Given the description of an element on the screen output the (x, y) to click on. 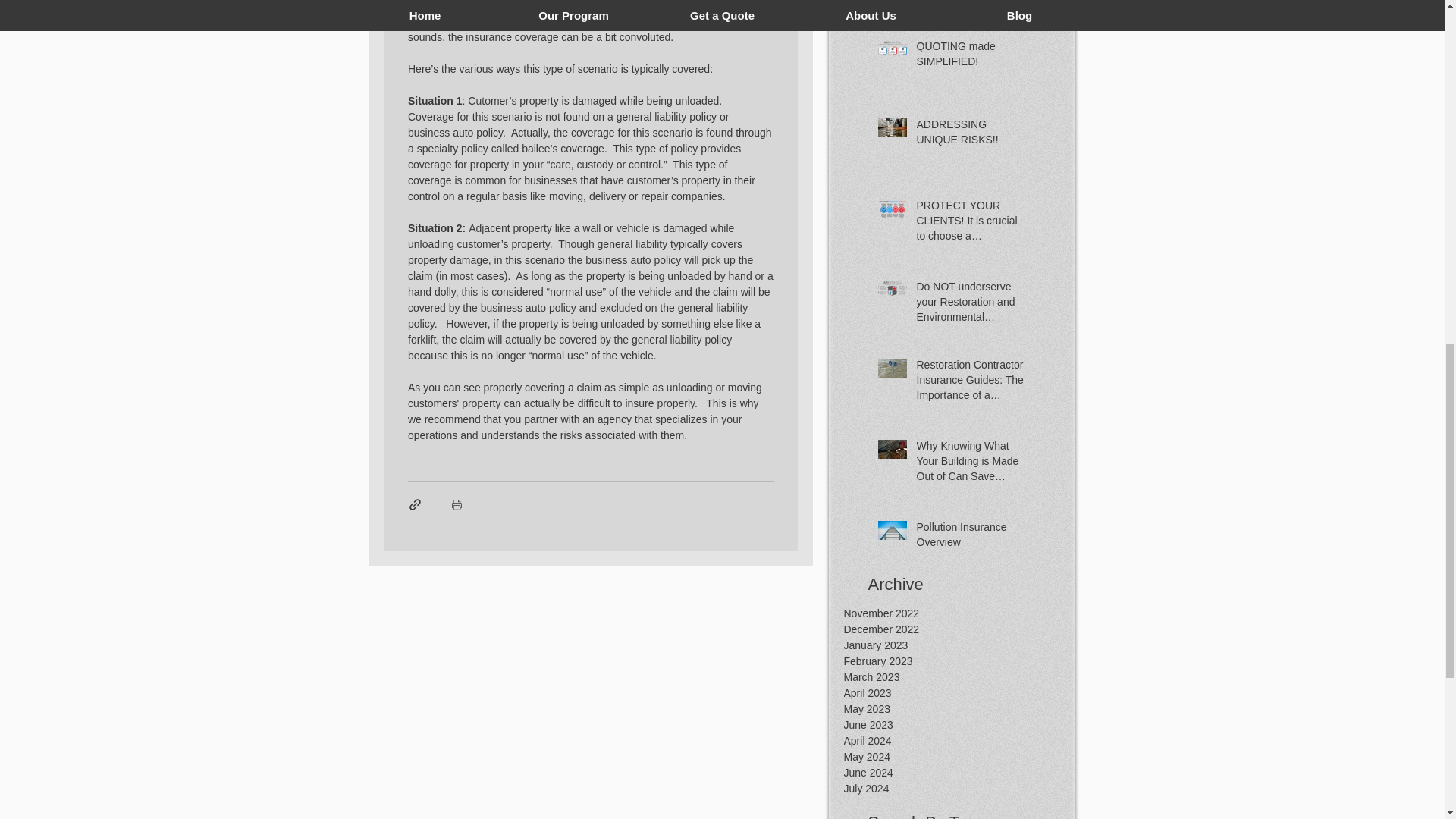
Pollution Insurance Overview (970, 538)
March 2023 (958, 677)
June 2023 (958, 725)
January 2023 (958, 645)
July 2024 (958, 788)
February 2023 (958, 661)
April 2023 (958, 693)
April 2024 (958, 741)
June 2024 (958, 772)
ADDRESSING UNIQUE RISKS!! (970, 135)
May 2023 (958, 709)
December 2022 (958, 629)
